Given the description of an element on the screen output the (x, y) to click on. 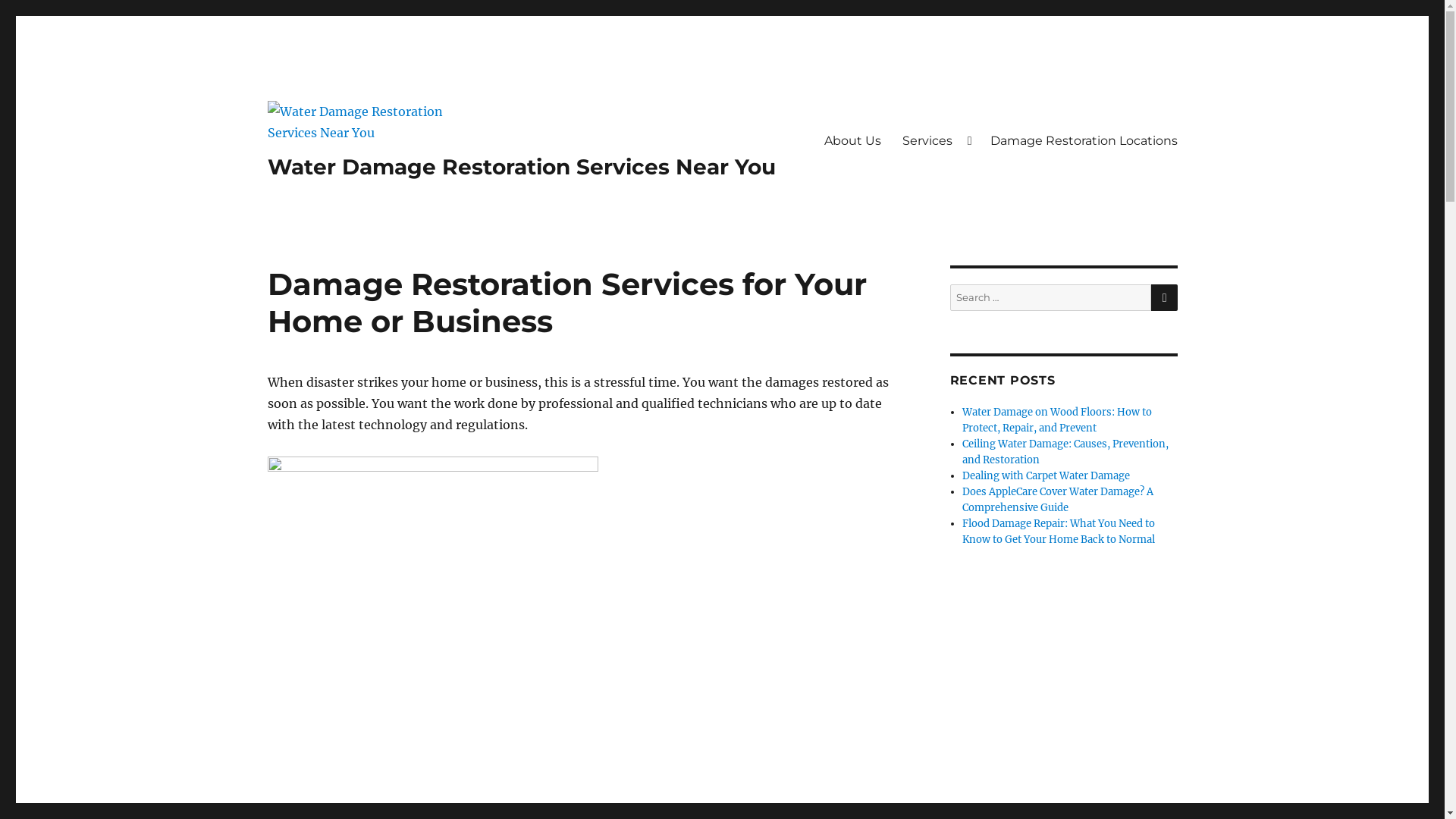
About Us Element type: text (851, 140)
Dealing with Carpet Water Damage Element type: text (1045, 475)
Does AppleCare Cover Water Damage? A Comprehensive Guide Element type: text (1057, 499)
Services Element type: text (935, 140)
Damage Restoration Locations Element type: text (1083, 140)
SEARCH Element type: text (1164, 297)
Ceiling Water Damage: Causes, Prevention, and Restoration Element type: text (1065, 451)
Water Damage Restoration Services Near You Element type: text (520, 166)
